Given the description of an element on the screen output the (x, y) to click on. 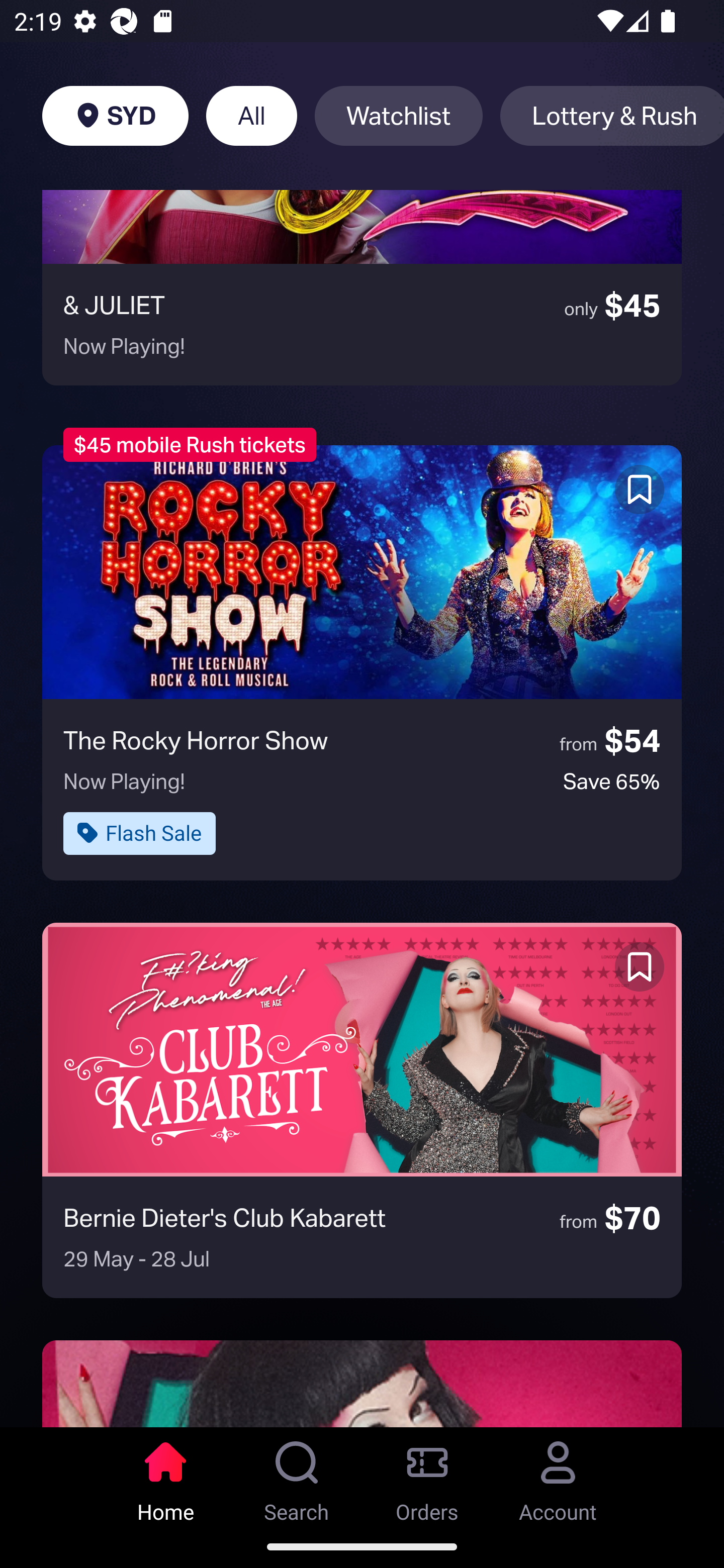
SYD (114, 115)
All (251, 115)
Watchlist (398, 115)
Lottery & Rush (612, 115)
& JULIET only $45 Now Playing! (361, 287)
Search (296, 1475)
Orders (427, 1475)
Account (558, 1475)
